Given the description of an element on the screen output the (x, y) to click on. 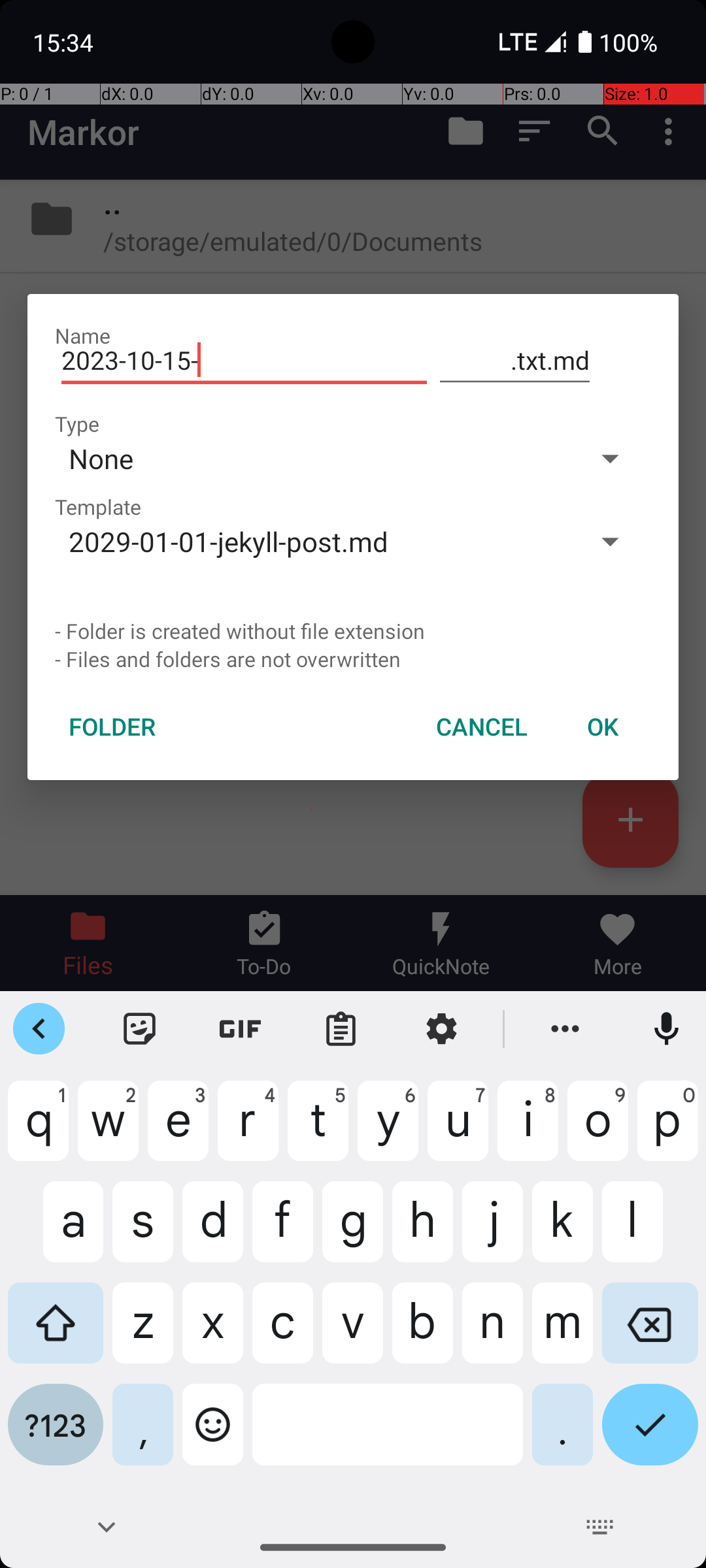
2023-10-15- Element type: android.widget.EditText (243, 360)
.txt.md Element type: android.widget.EditText (514, 360)
2029-01-01-jekyll-post.md Element type: android.widget.TextView (311, 540)
